Given the description of an element on the screen output the (x, y) to click on. 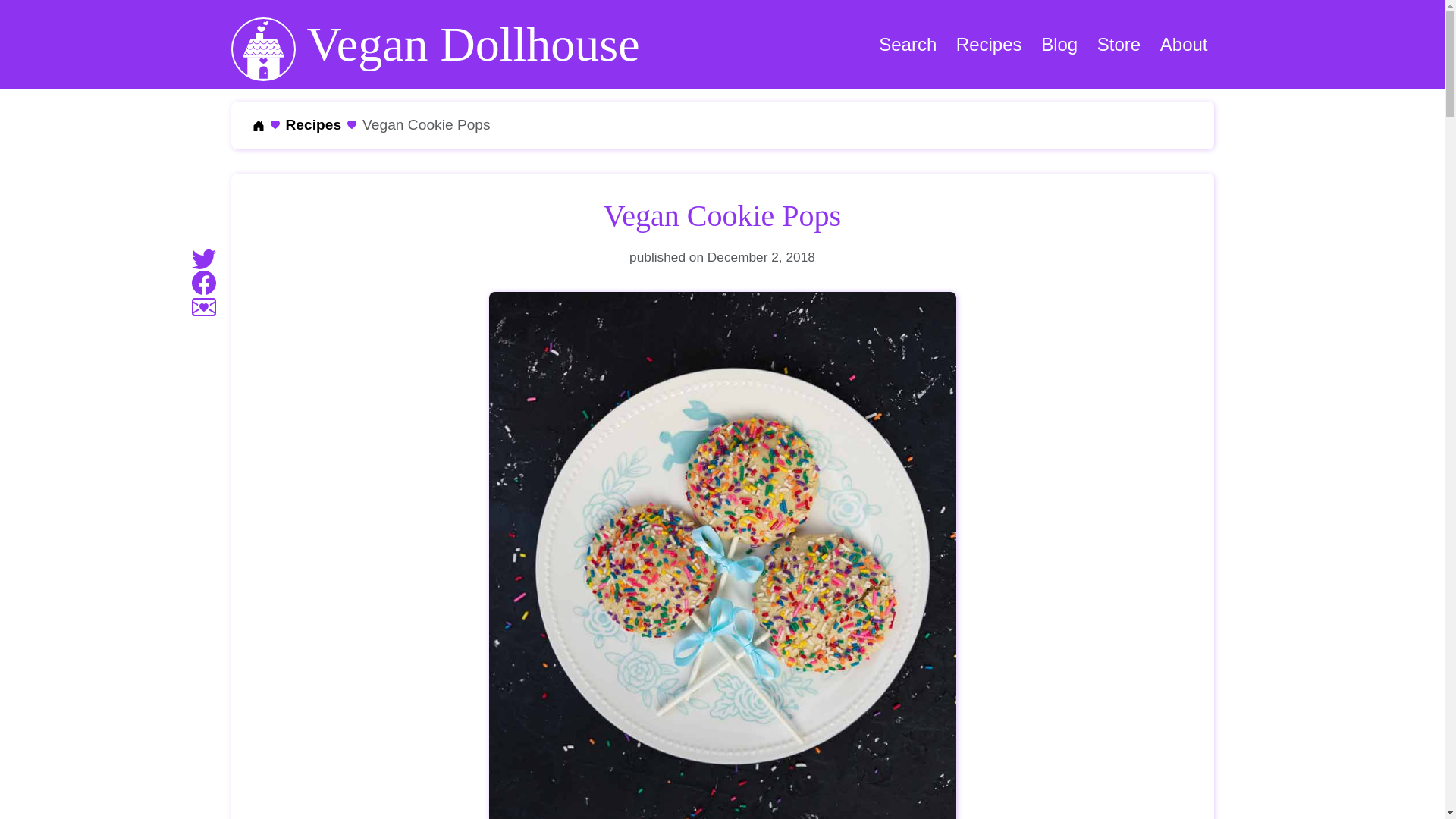
Search (907, 44)
Store (1118, 44)
Vegan Dollhouse (434, 44)
Blog (1059, 44)
Recipes (312, 124)
2018-12-02 (761, 256)
Share on Twitter (202, 257)
Recipes (988, 44)
Share on Facebook (202, 281)
About (1184, 44)
